Given the description of an element on the screen output the (x, y) to click on. 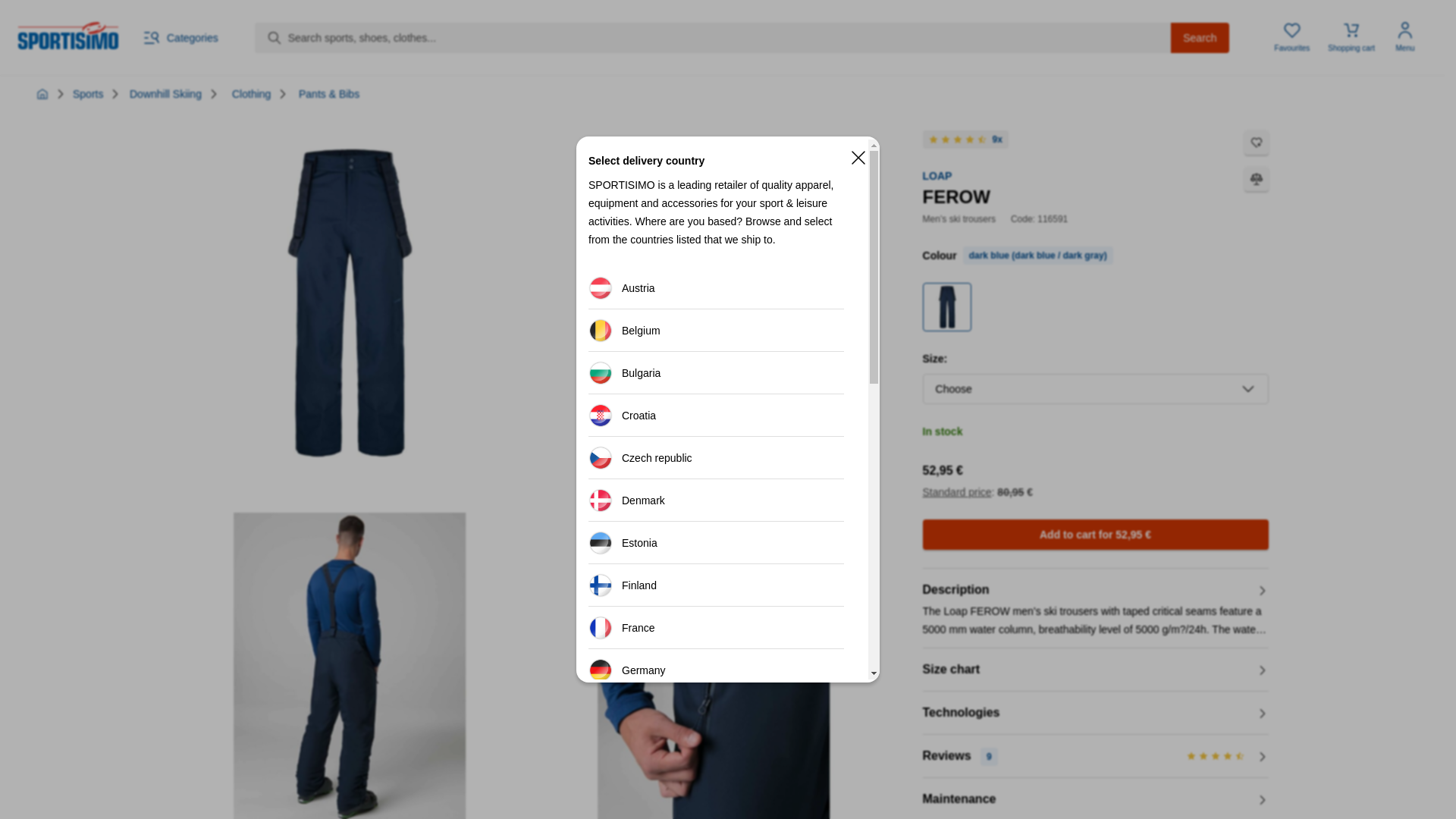
Categories (180, 37)
Downhill Skiing (165, 93)
Clothing (250, 93)
LOAP (937, 175)
Ski clothing (250, 93)
Sports (87, 93)
Sportisimo.com (67, 34)
Shopping cart (1351, 37)
Menu (1405, 37)
Favourites (1292, 37)
Compare (1255, 178)
SPORTISIMO - EVERYTHING FOR SPORTS AND LEISURE TIME (42, 93)
Alpine Skiing (165, 93)
Search (1199, 37)
